Given the description of an element on the screen output the (x, y) to click on. 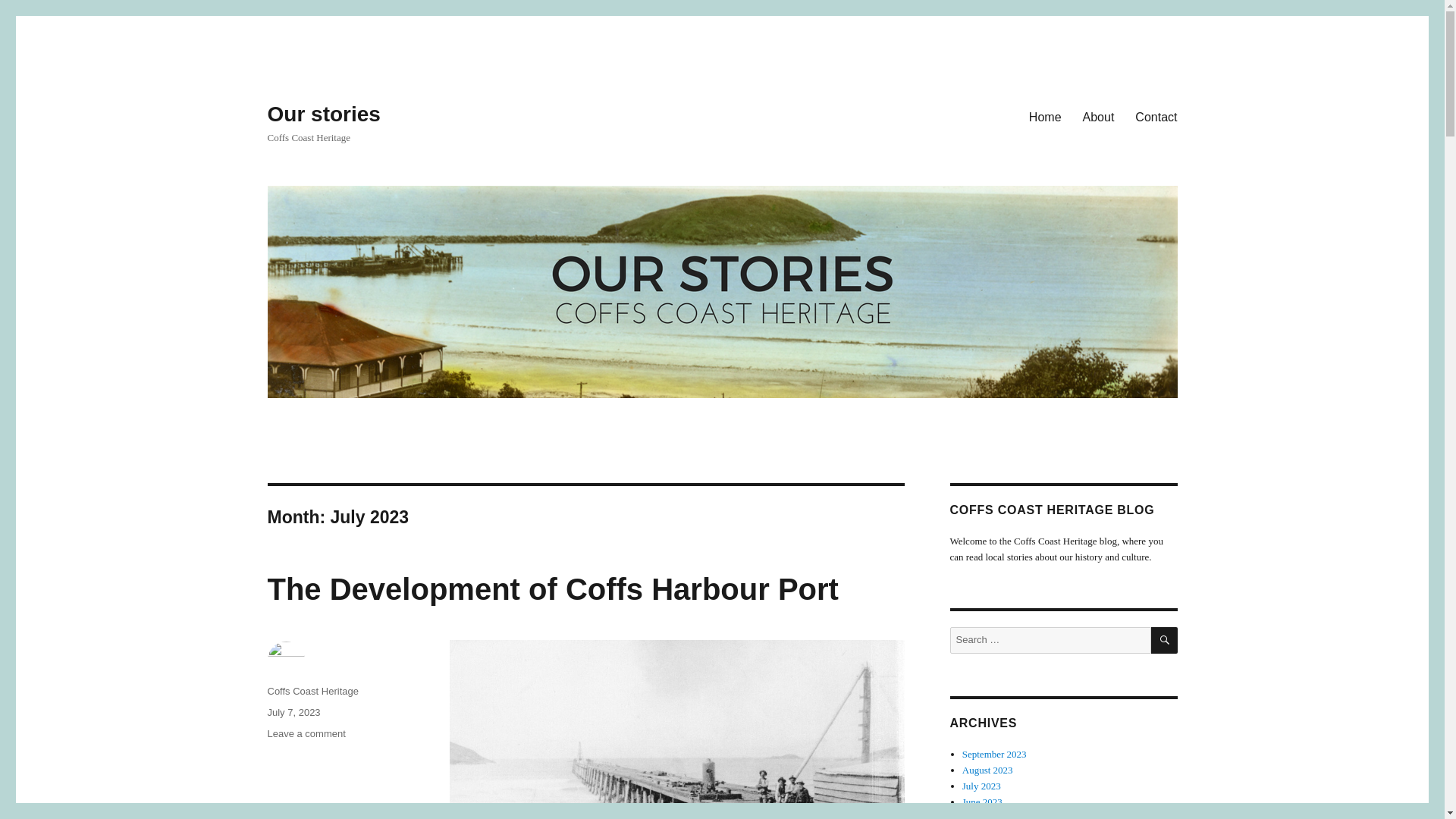
Home (1044, 116)
September 2023 (994, 754)
About (1098, 116)
SEARCH (305, 733)
June 2023 (1164, 640)
July 7, 2023 (982, 801)
August 2023 (293, 712)
July 2023 (987, 769)
Contact (981, 785)
Coffs Coast Heritage (1156, 116)
May 2023 (312, 690)
Our stories (982, 815)
The Development of Coffs Harbour Port (323, 114)
